Given the description of an element on the screen output the (x, y) to click on. 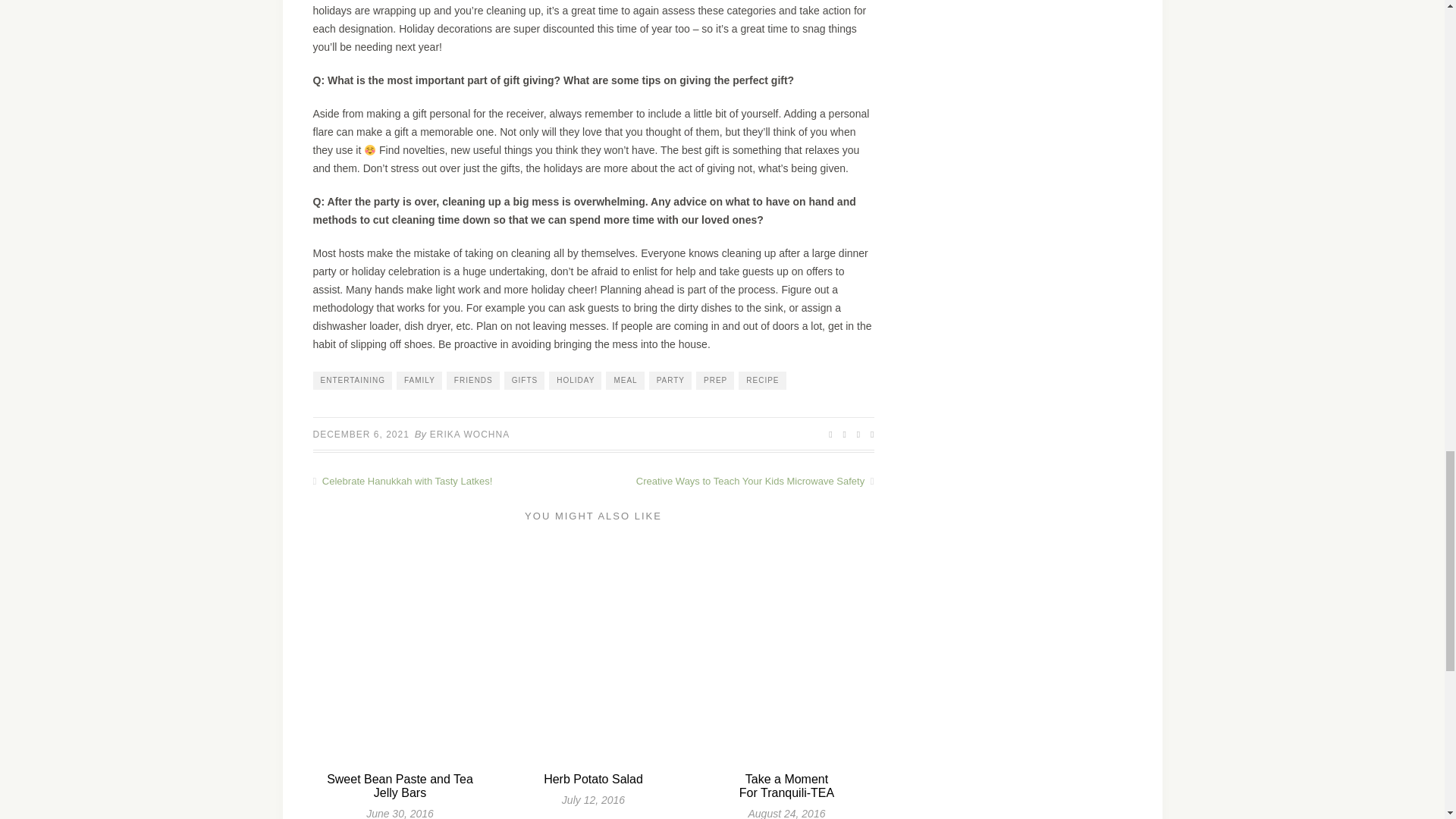
Posts by Erika Wochna (469, 434)
